Given the description of an element on the screen output the (x, y) to click on. 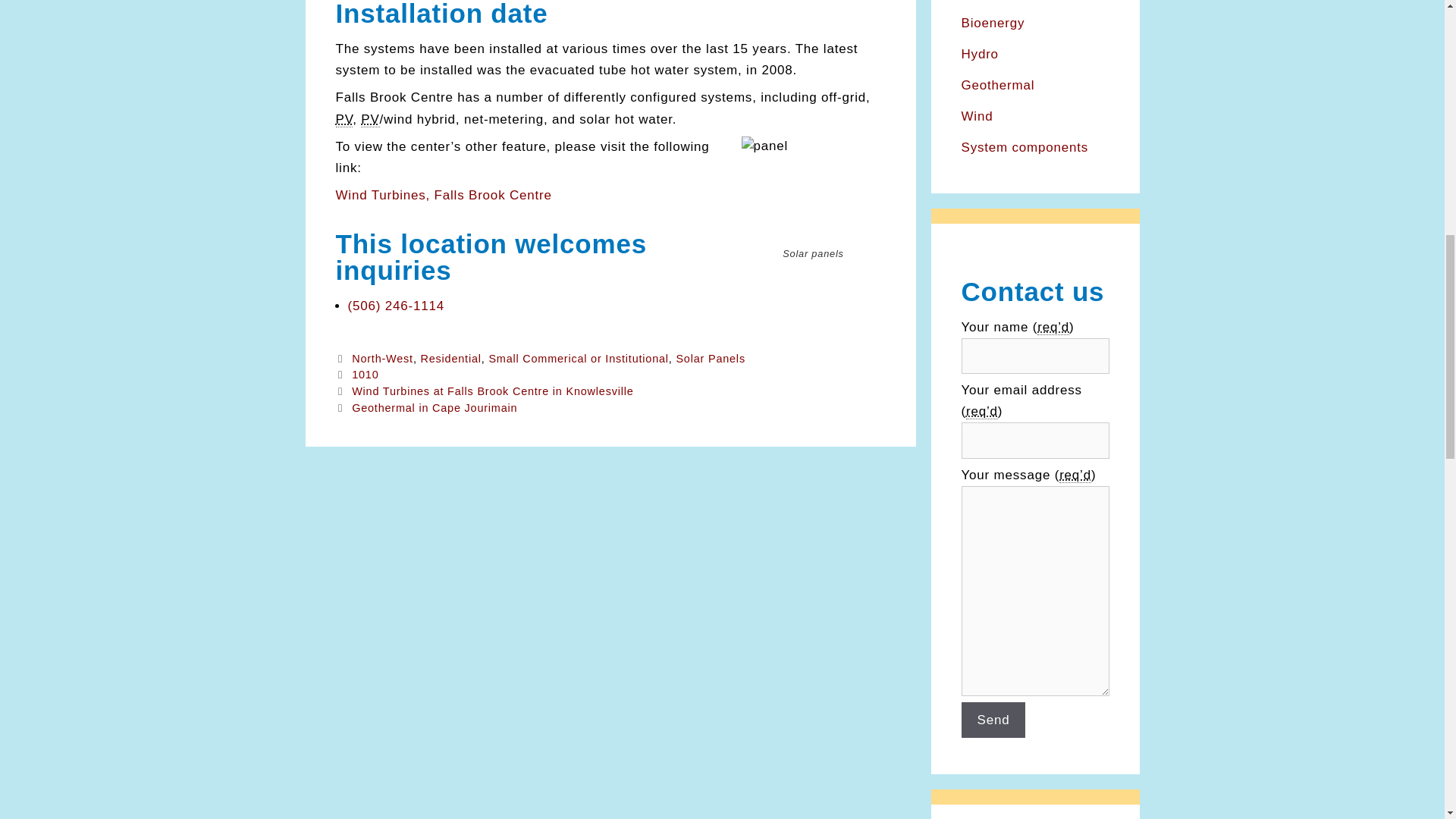
Geothermal in Cape Jourimain (434, 408)
Small Commerical or Institutional (577, 358)
Geothermal (997, 84)
Send (993, 719)
Hydro (979, 53)
Wind Turbines, Falls Brook Centre (442, 195)
1010 (365, 374)
North-West (382, 358)
Solar Panels (709, 358)
Bioenergy (992, 22)
Residential (450, 358)
Wind Turbines at Falls Brook Centre in Knowlesville (492, 390)
Wind (976, 115)
